Given the description of an element on the screen output the (x, y) to click on. 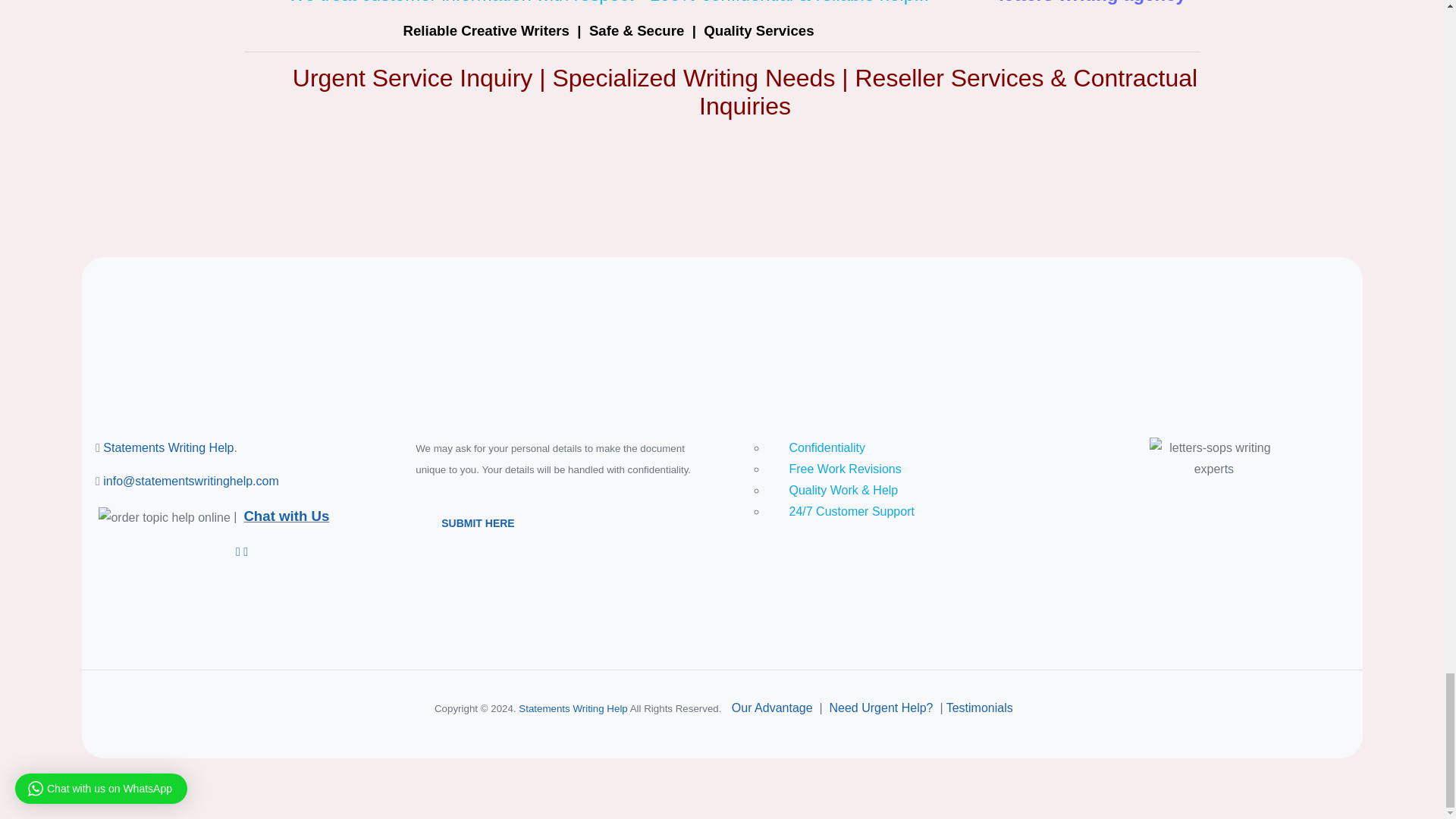
Urgent Service Inquiry (412, 77)
Chat with Us (286, 516)
SUBMIT HERE (477, 522)
Specialized Writing Needs (692, 77)
Reliable Creative Writers (486, 30)
Statements Writing Help (167, 447)
